Given the description of an element on the screen output the (x, y) to click on. 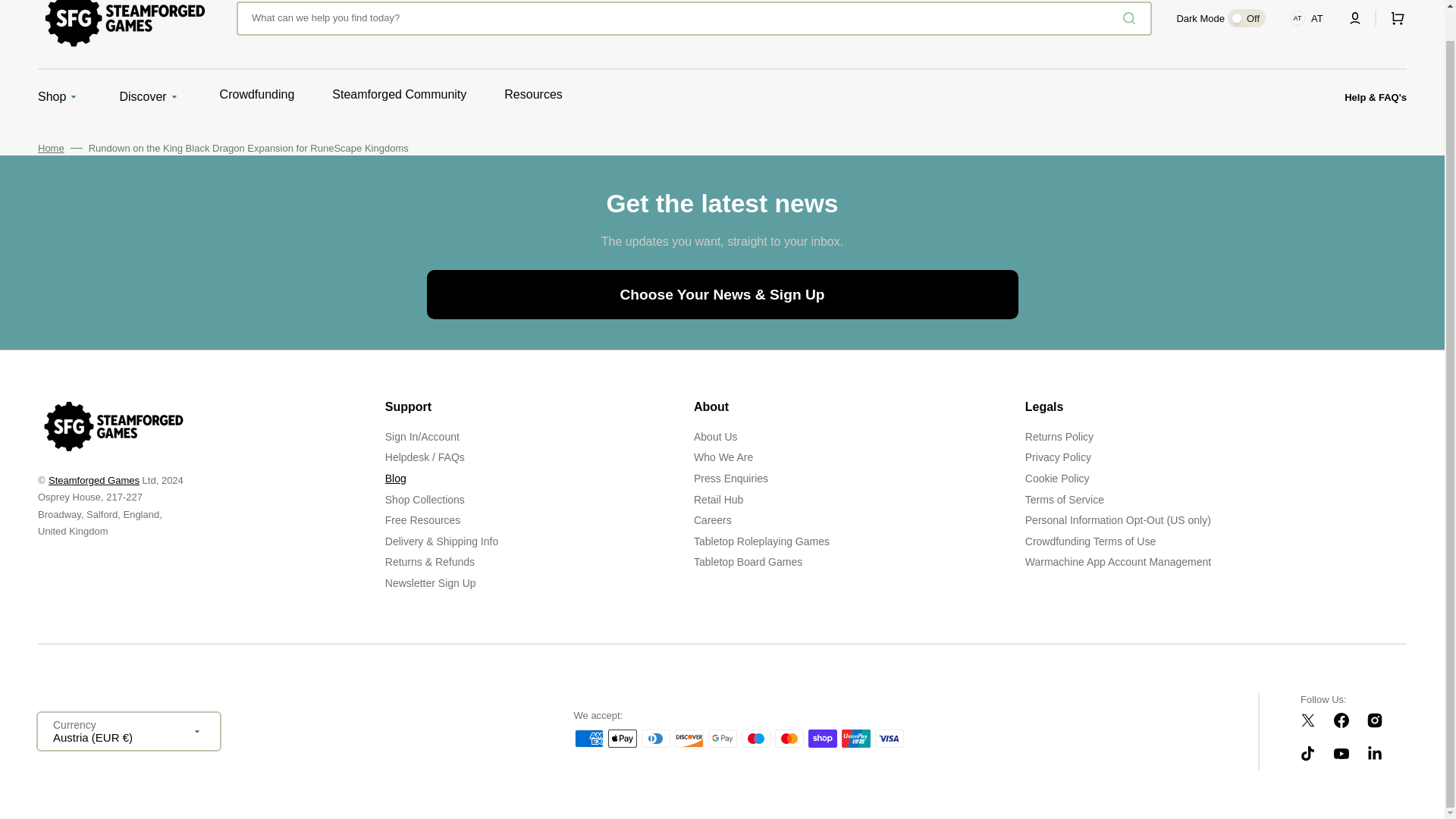
Resources (532, 94)
Crowdfunding (257, 94)
Shop (51, 96)
Steamforged Community (398, 94)
Home (50, 148)
Discover (142, 96)
